Given the description of an element on the screen output the (x, y) to click on. 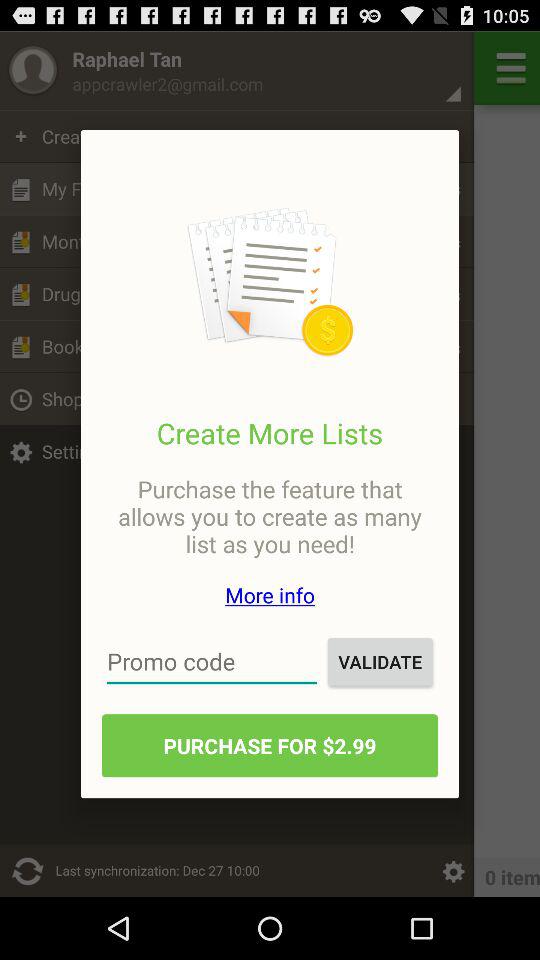
enter promo code (212, 661)
